Given the description of an element on the screen output the (x, y) to click on. 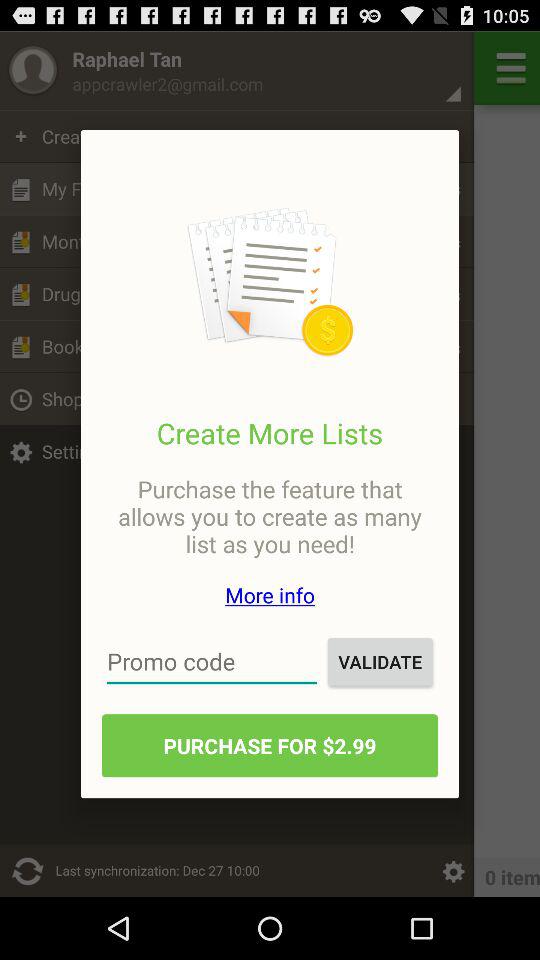
enter promo code (212, 661)
